Given the description of an element on the screen output the (x, y) to click on. 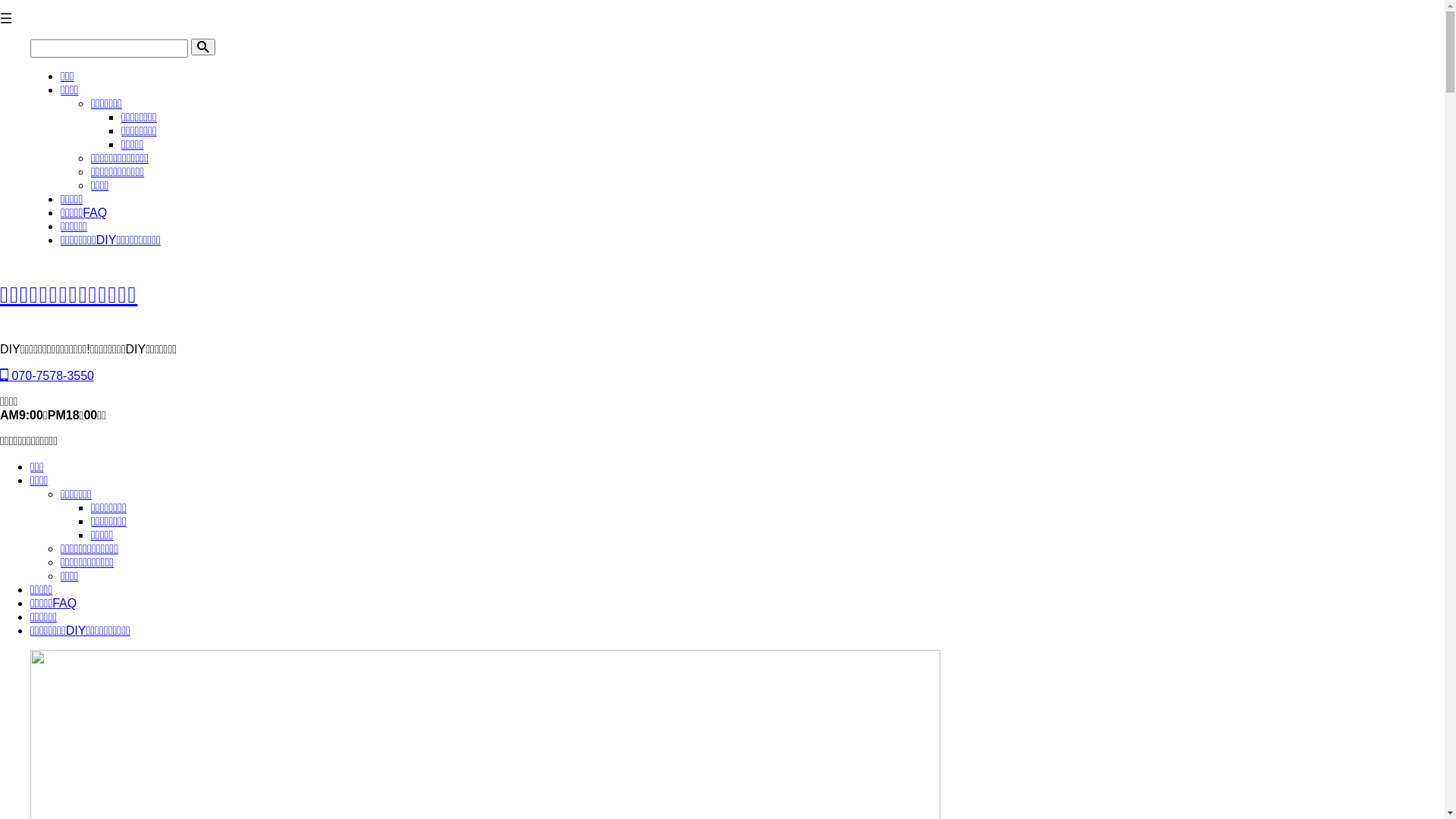
 070-7578-3550 Element type: text (47, 375)
